Given the description of an element on the screen output the (x, y) to click on. 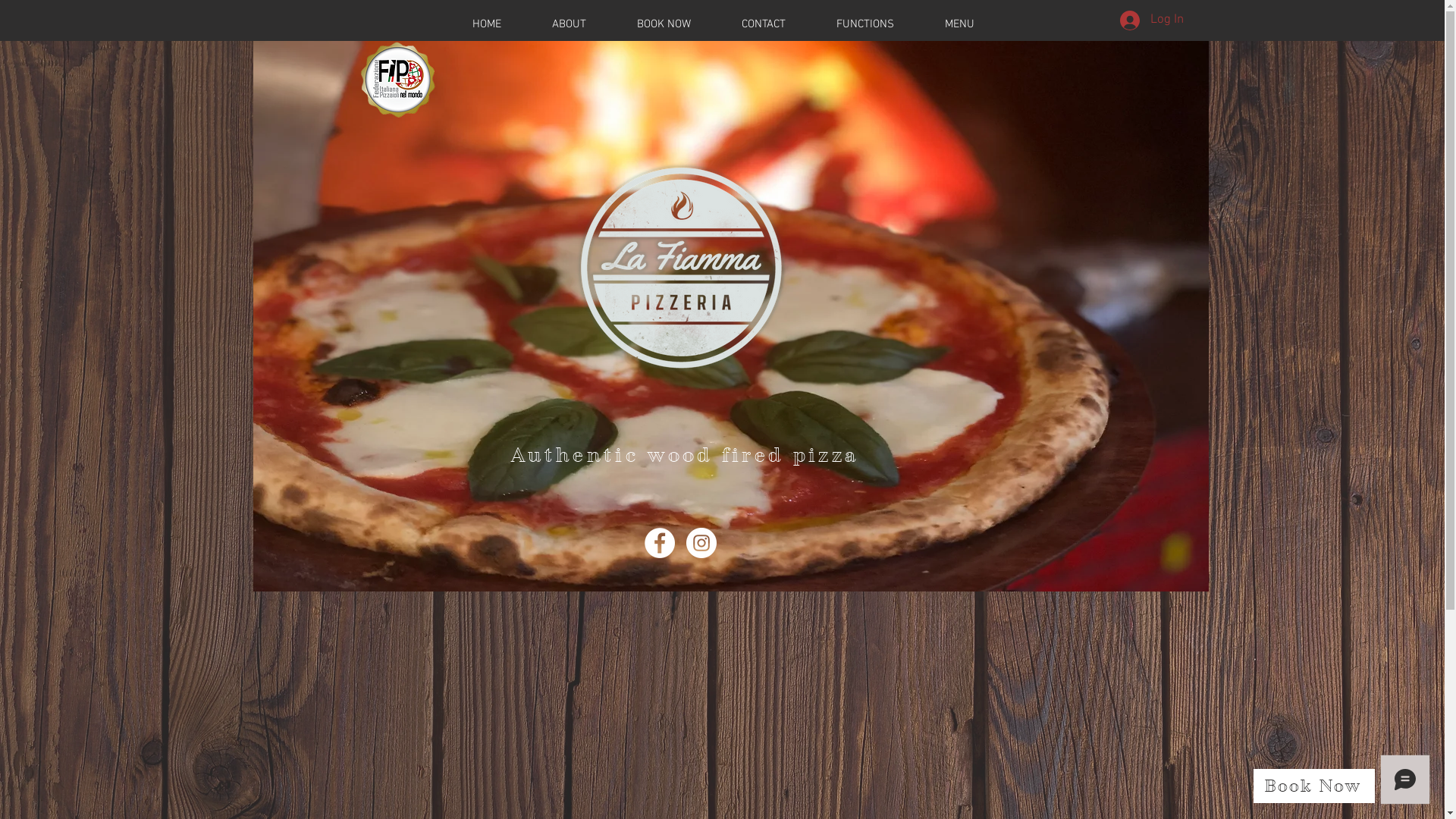
ABOUT Element type: text (568, 24)
HOME Element type: text (485, 24)
Embedded Content Element type: hover (478, 632)
MENU Element type: text (959, 24)
FUNCTIONS Element type: text (865, 24)
Log In Element type: text (1150, 20)
Embedded Content Element type: hover (1090, 66)
Embedded Content Element type: hover (680, 633)
BOOK NOW Element type: text (663, 24)
CONTACT Element type: text (762, 24)
Book Now Element type: text (1313, 785)
Embedded Content Element type: hover (895, 633)
